Given the description of an element on the screen output the (x, y) to click on. 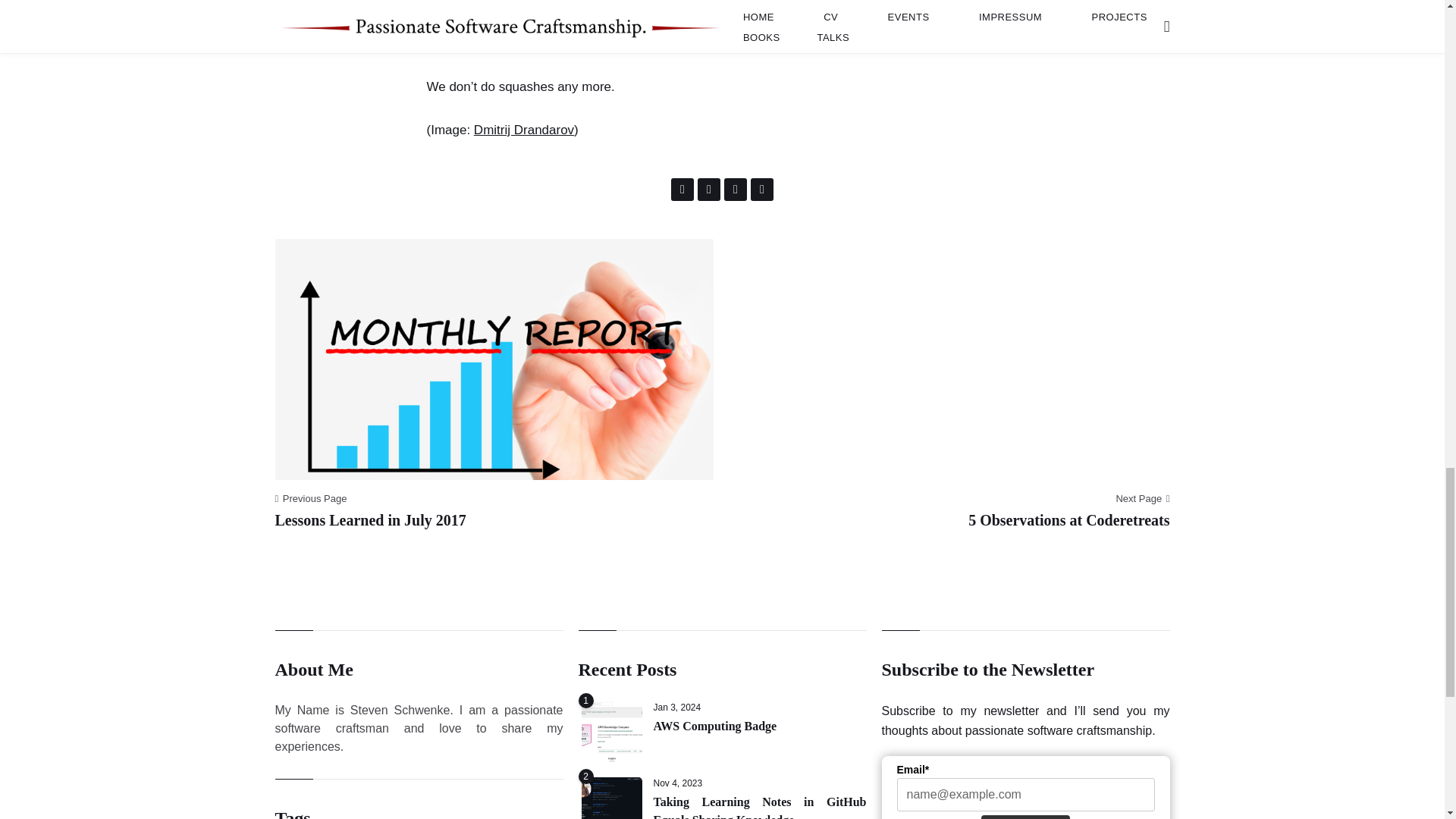
Share on Facebook (682, 189)
Next Page (1142, 498)
5 Observations at Coderetreats (1068, 519)
Share on Pinterest (762, 189)
Share on Twitter (708, 189)
Previous Page (310, 498)
Dmitrij Drandarov (523, 129)
Lessons Learned in July 2017 (370, 519)
Share on LinkedIn (734, 189)
